Given the description of an element on the screen output the (x, y) to click on. 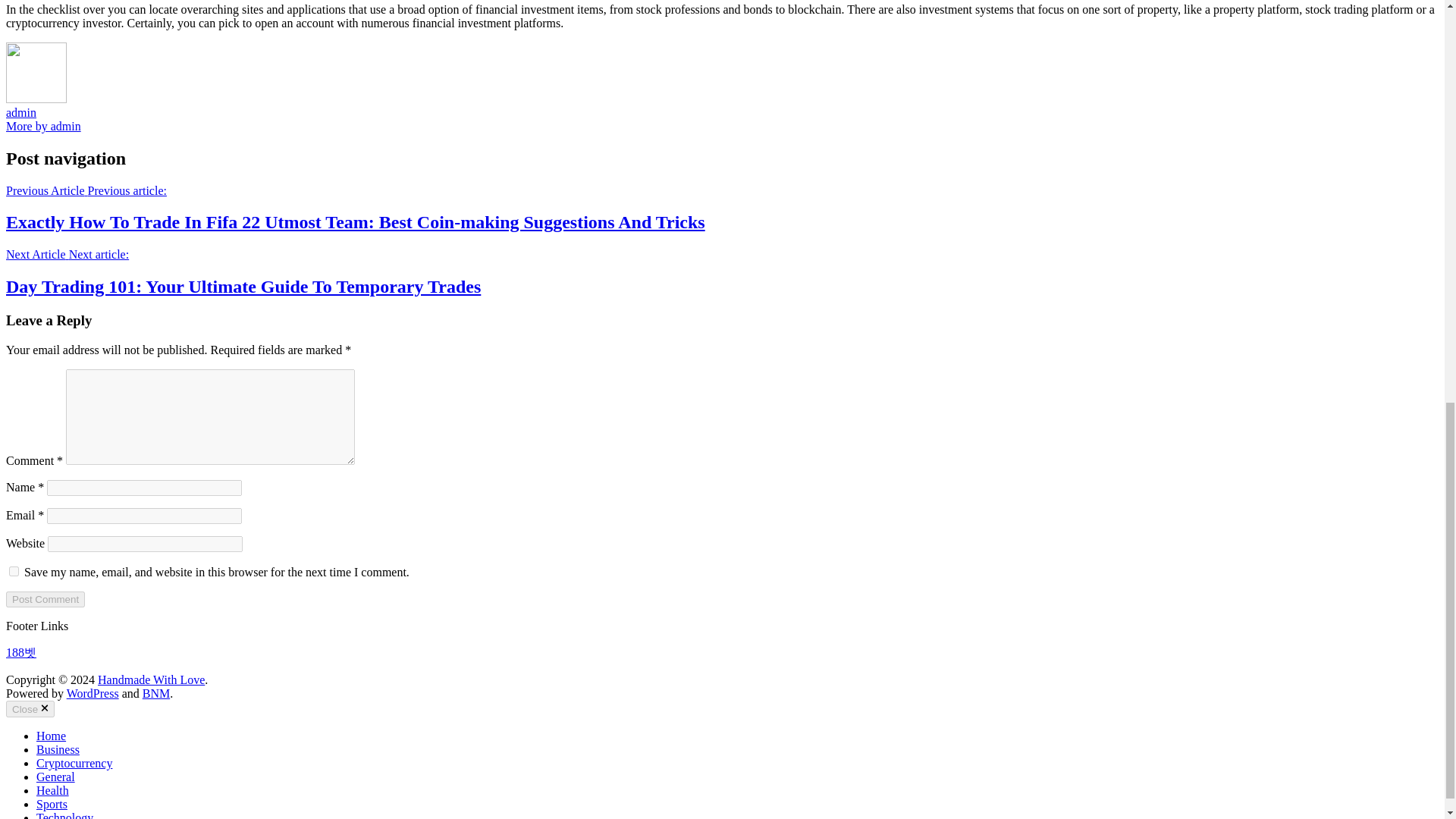
Cryptocurrency (74, 762)
More by admin (43, 125)
Post Comment (44, 599)
admin (20, 112)
Sports (51, 803)
WordPress (92, 693)
Handmade With Love (151, 679)
Handmade With Love (151, 679)
Close (30, 709)
Post Comment (44, 599)
Health (52, 789)
BNM (156, 693)
Business (58, 748)
General (55, 776)
Home (50, 735)
